Given the description of an element on the screen output the (x, y) to click on. 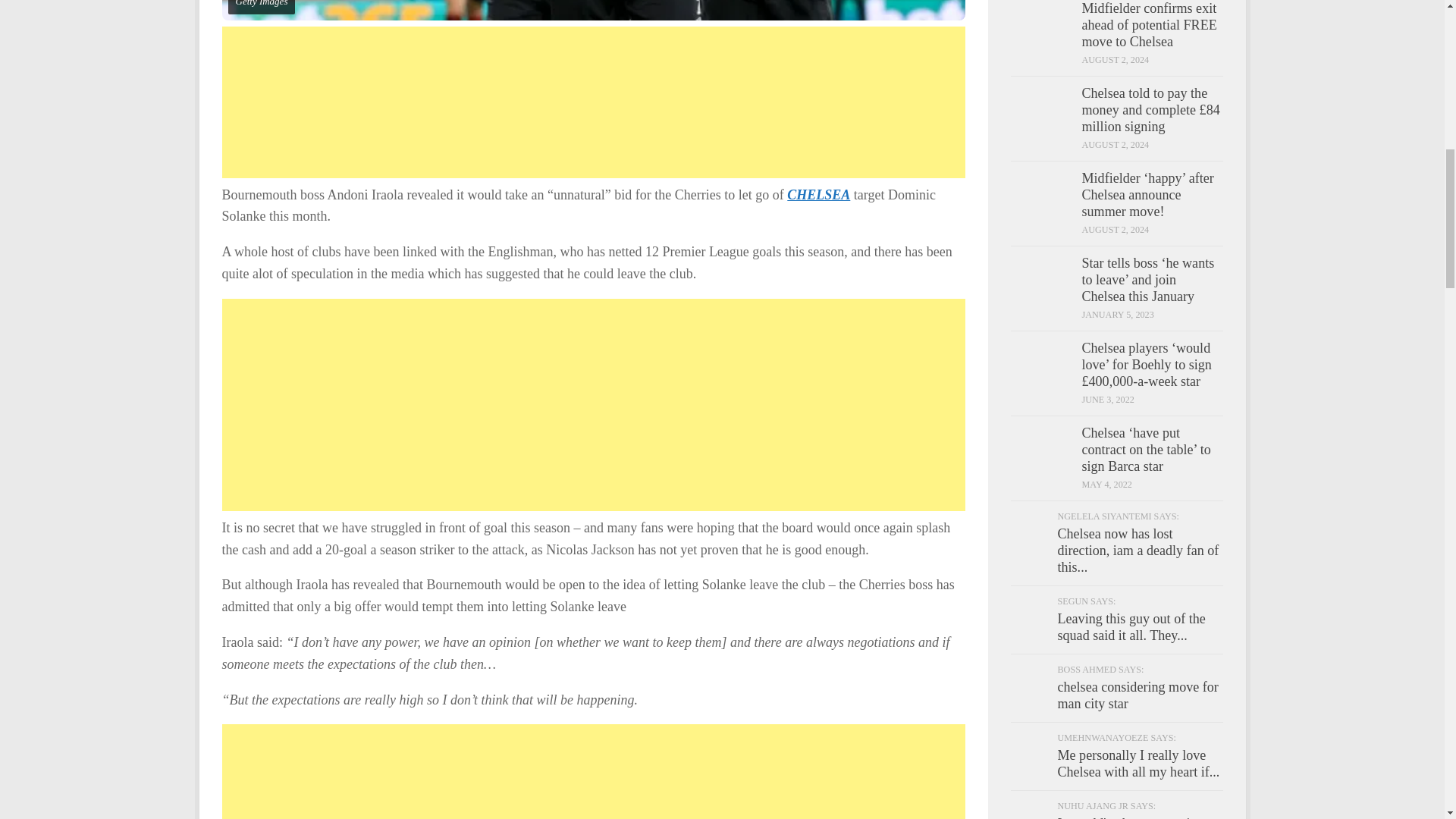
CHELSEA (818, 194)
